Given the description of an element on the screen output the (x, y) to click on. 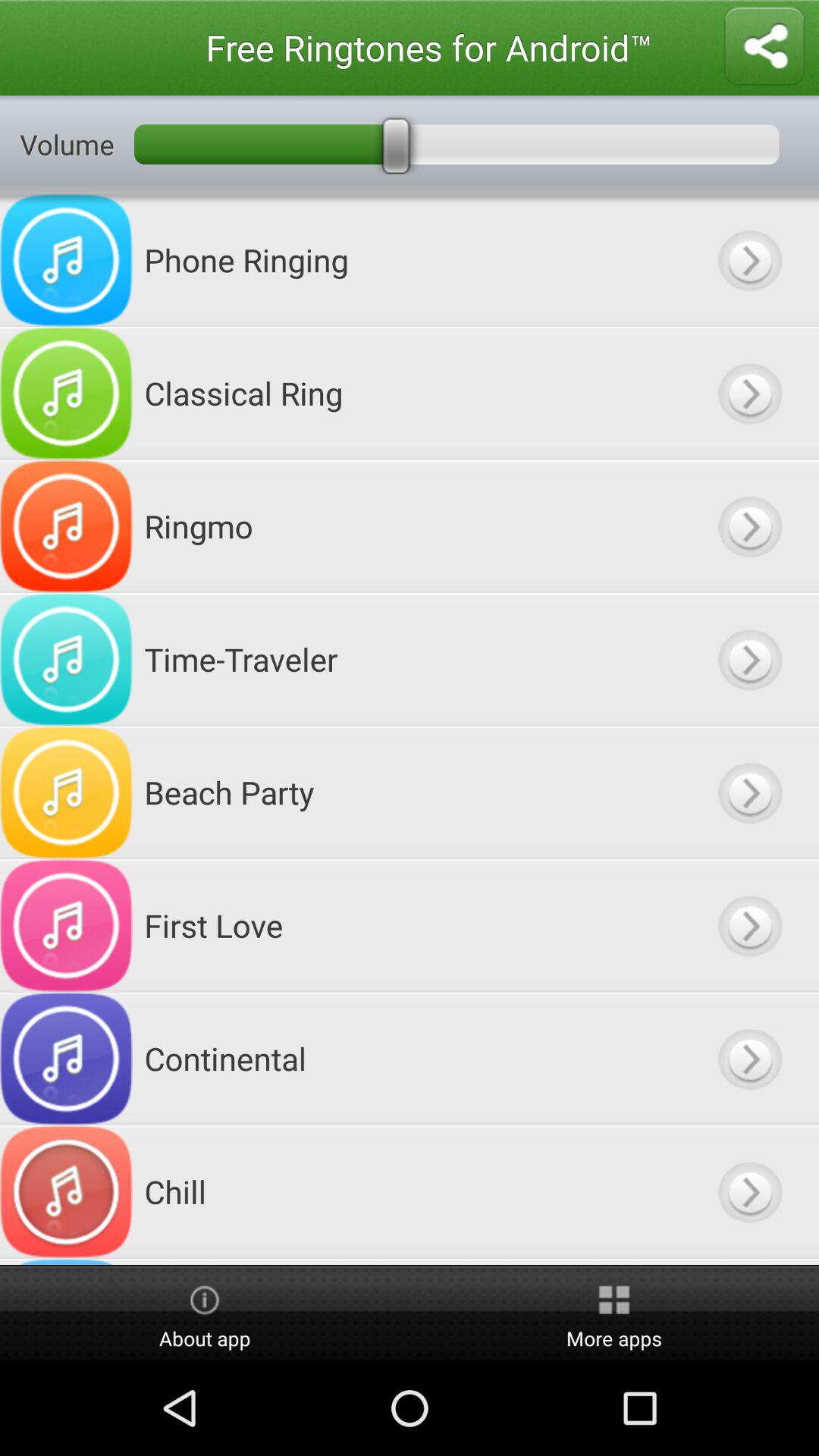
play ringtone (749, 1058)
